Given the description of an element on the screen output the (x, y) to click on. 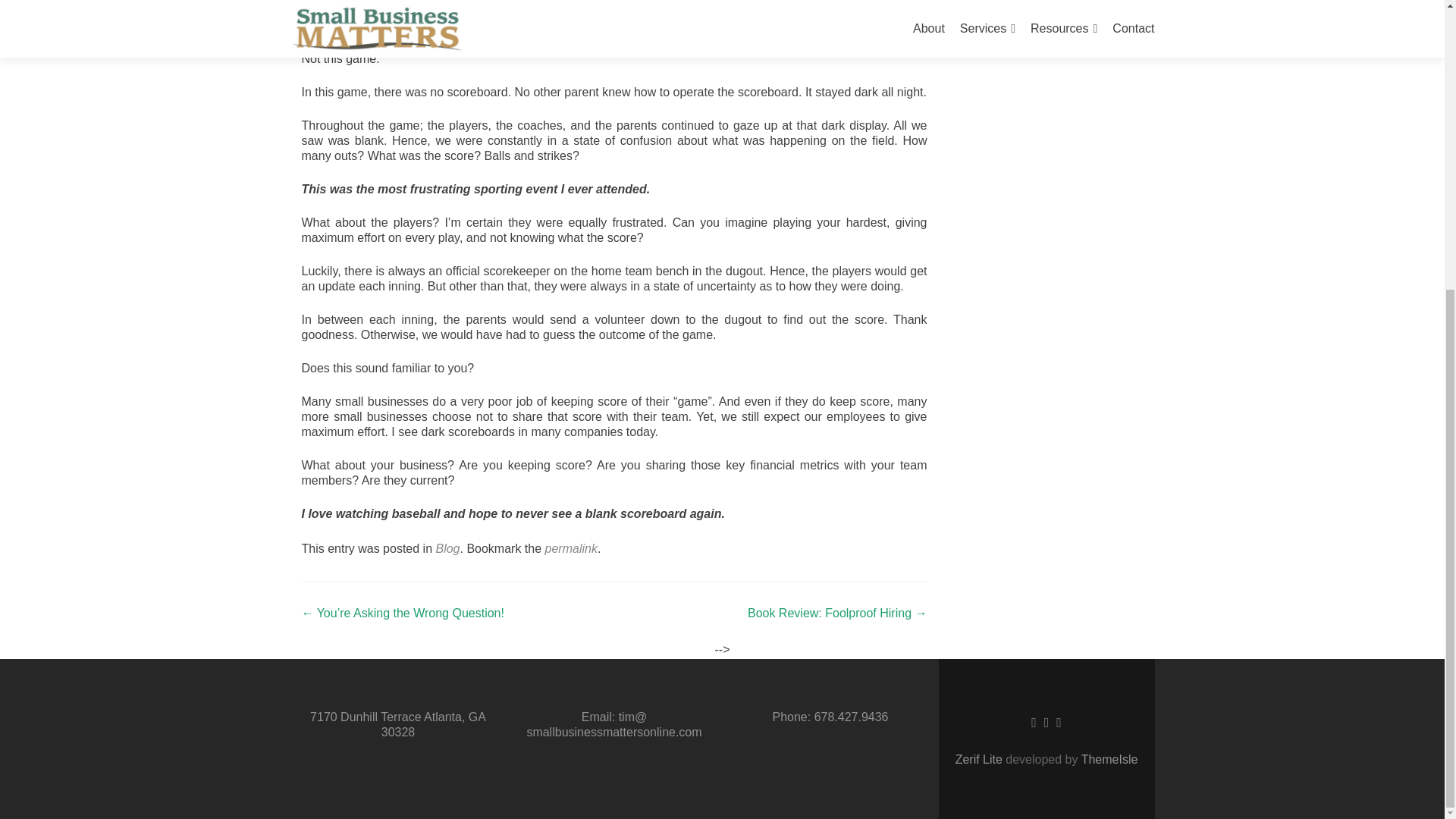
Phone: (790, 716)
Zerif Lite (980, 758)
Blog (447, 548)
Email: (597, 716)
permalink (570, 548)
ThemeIsle (1109, 758)
